Given the description of an element on the screen output the (x, y) to click on. 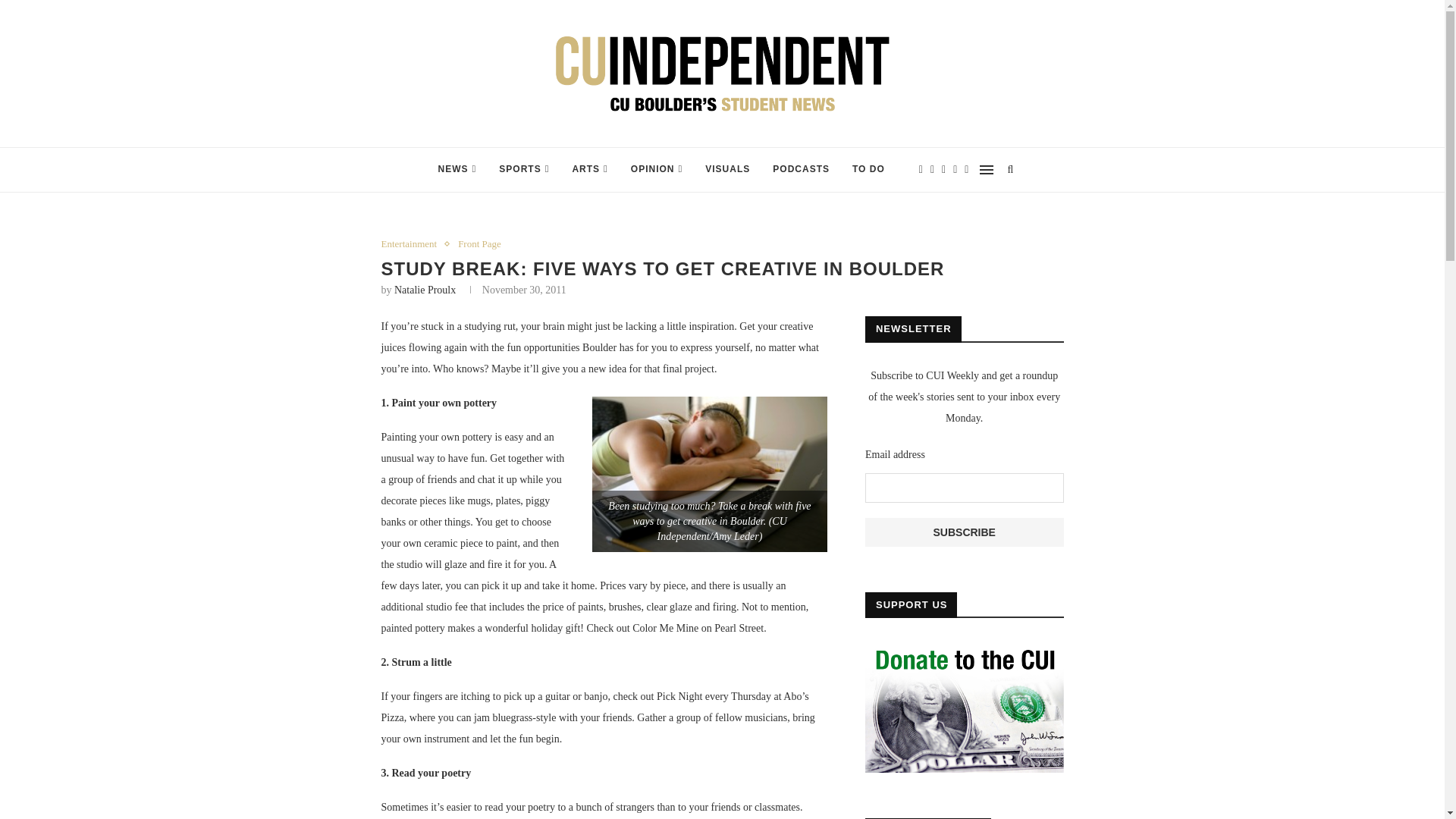
Subscribe (964, 532)
